Given the description of an element on the screen output the (x, y) to click on. 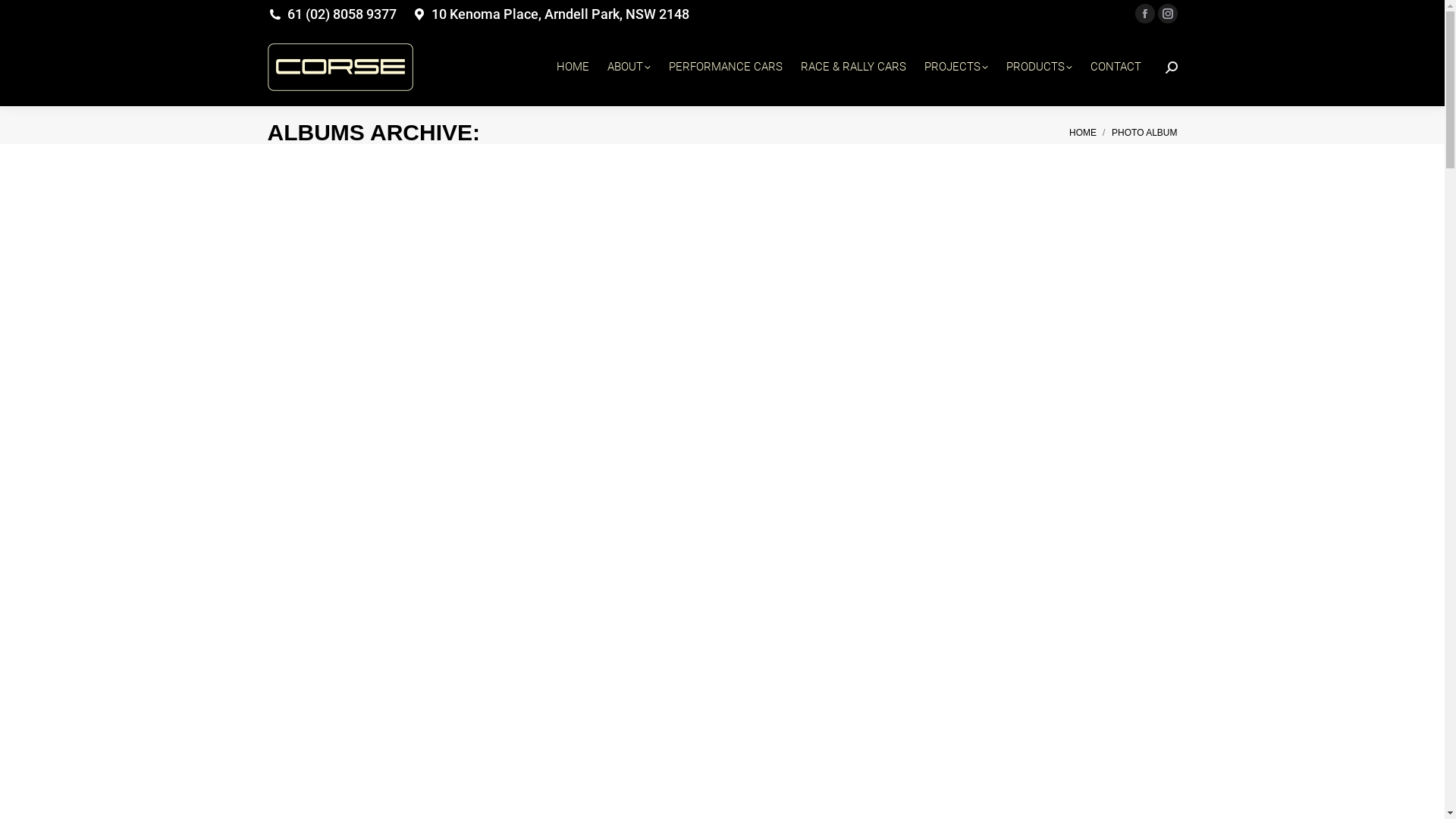
ABOUT Element type: text (628, 66)
PROJECTS Element type: text (956, 66)
Go! Element type: text (23, 16)
Facebook page opens in new window Element type: text (1144, 13)
RACE & RALLY CARS Element type: text (853, 66)
PERFORMANCE CARS Element type: text (725, 66)
HOME Element type: text (572, 66)
Instagram page opens in new window Element type: text (1166, 13)
CONTACT Element type: text (1115, 66)
HOME Element type: text (1082, 132)
PRODUCTS Element type: text (1039, 66)
